Given the description of an element on the screen output the (x, y) to click on. 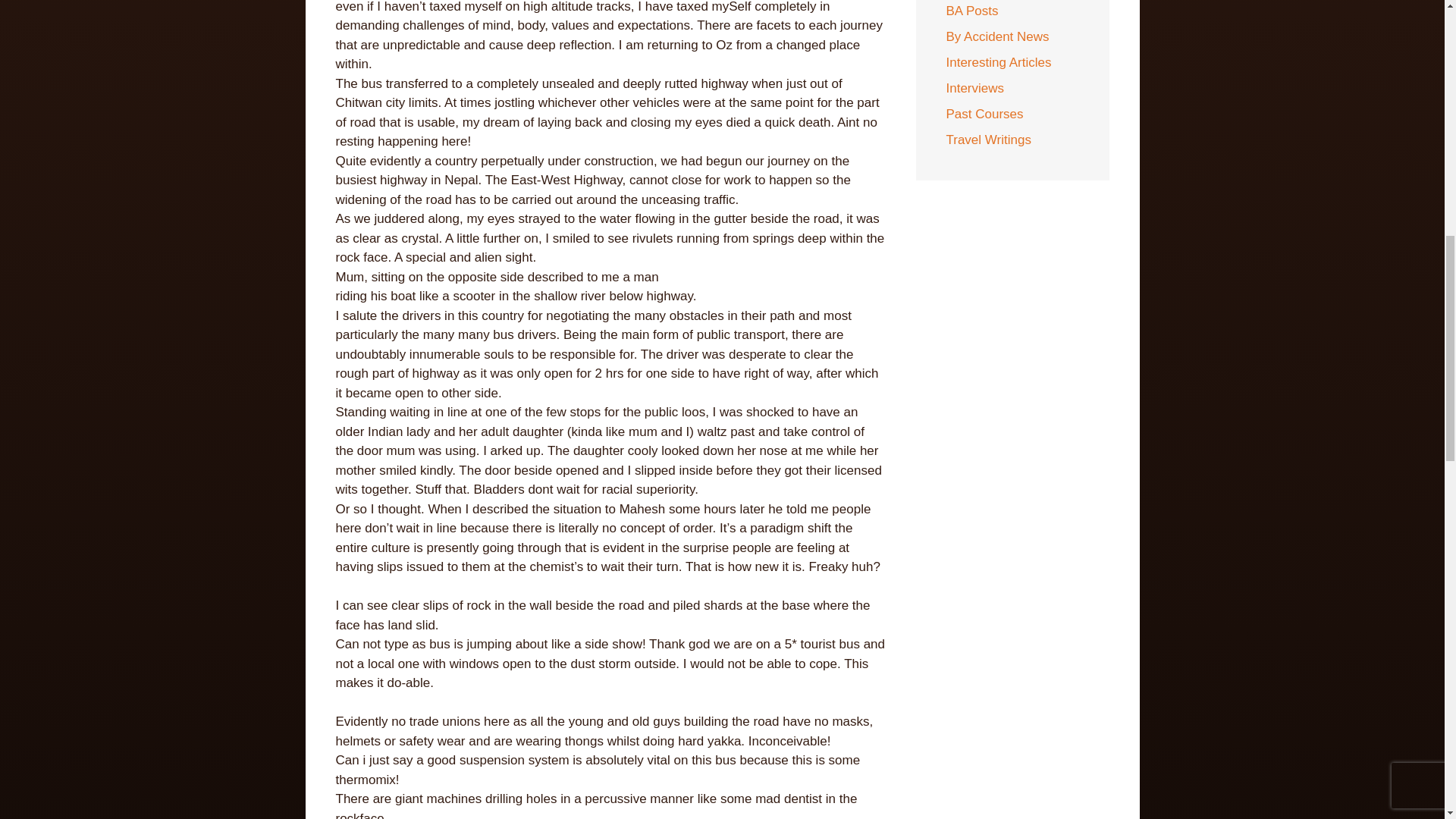
Travel Writings (988, 139)
Interviews (975, 88)
Interesting Articles (998, 62)
Past Courses (984, 114)
BA Posts (972, 11)
By Accident News (997, 36)
